Given the description of an element on the screen output the (x, y) to click on. 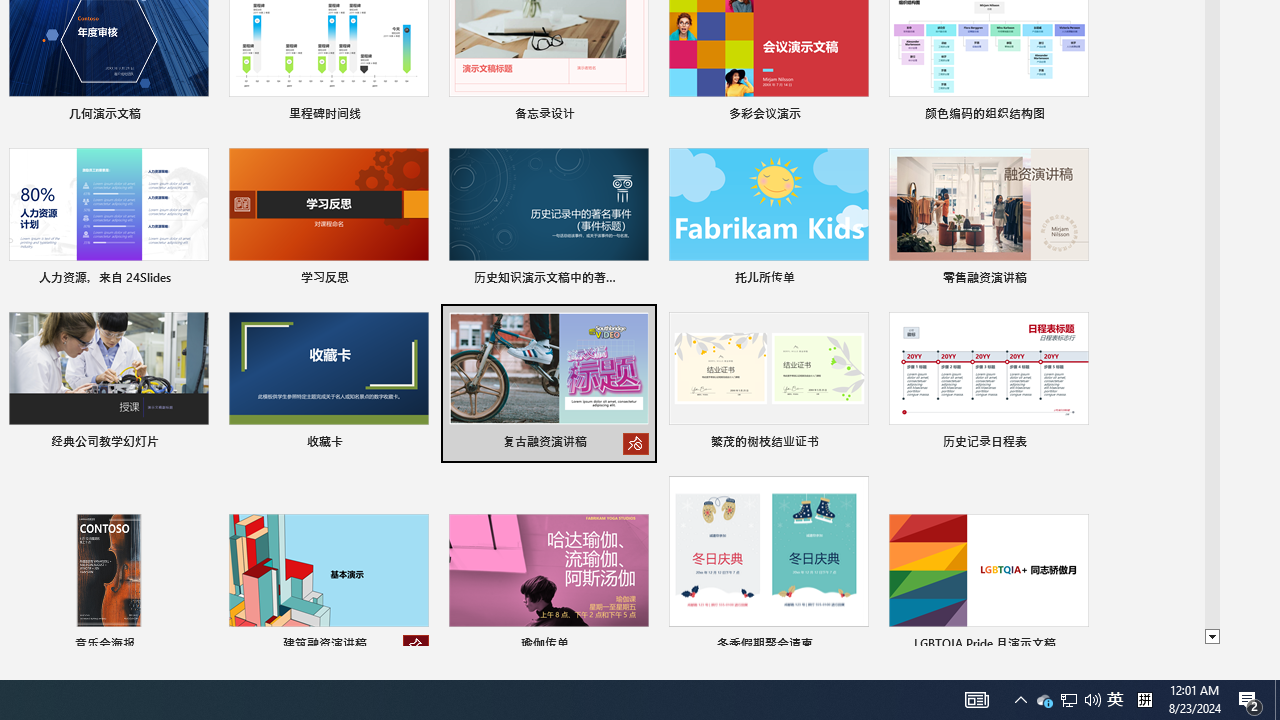
Pin to list (1075, 645)
Unpin from list (415, 645)
